Given the description of an element on the screen output the (x, y) to click on. 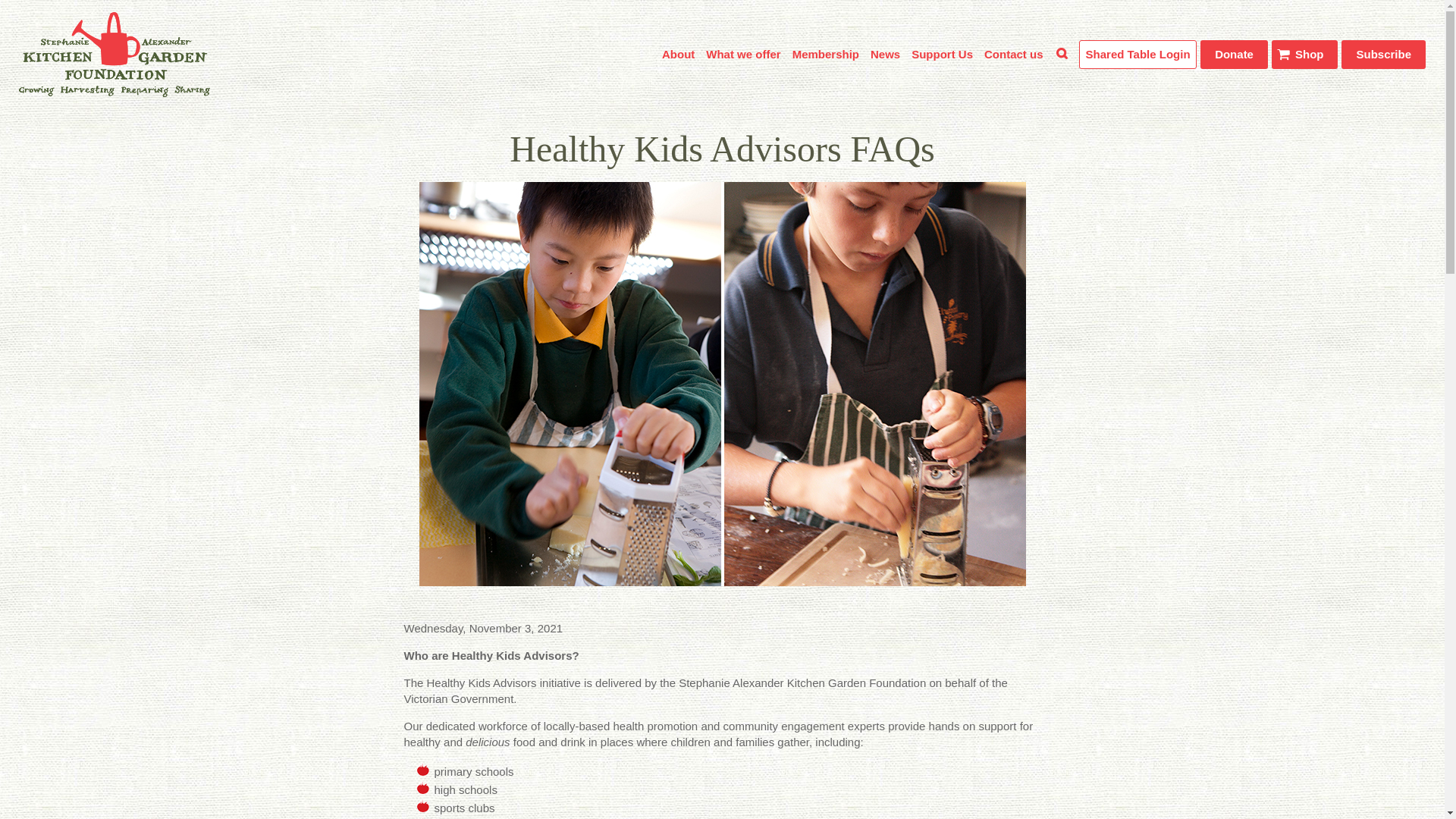
Shared Table Login (1137, 53)
Go (1390, 134)
Support Us (941, 53)
Membership (825, 53)
Subscribe (1382, 53)
Contact us (1013, 53)
Donate (1233, 53)
What we offer (743, 53)
News (884, 53)
About (678, 53)
Shop (1304, 53)
